Given the description of an element on the screen output the (x, y) to click on. 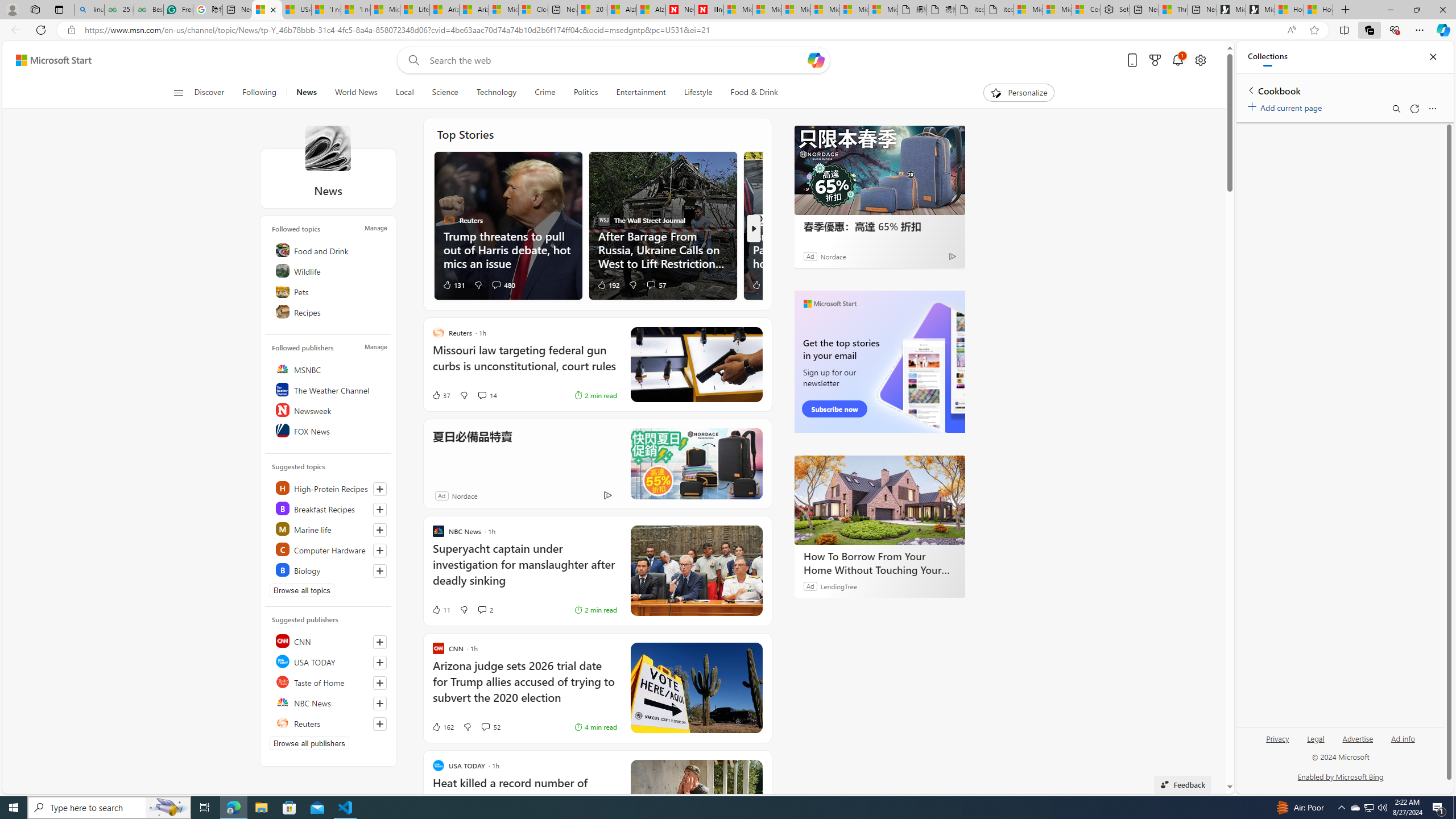
Follow this source (379, 723)
Follow this source (379, 723)
Newsweek (328, 410)
Heat killed a record number of Americans last year (524, 796)
131 Like (452, 284)
